Given the description of an element on the screen output the (x, y) to click on. 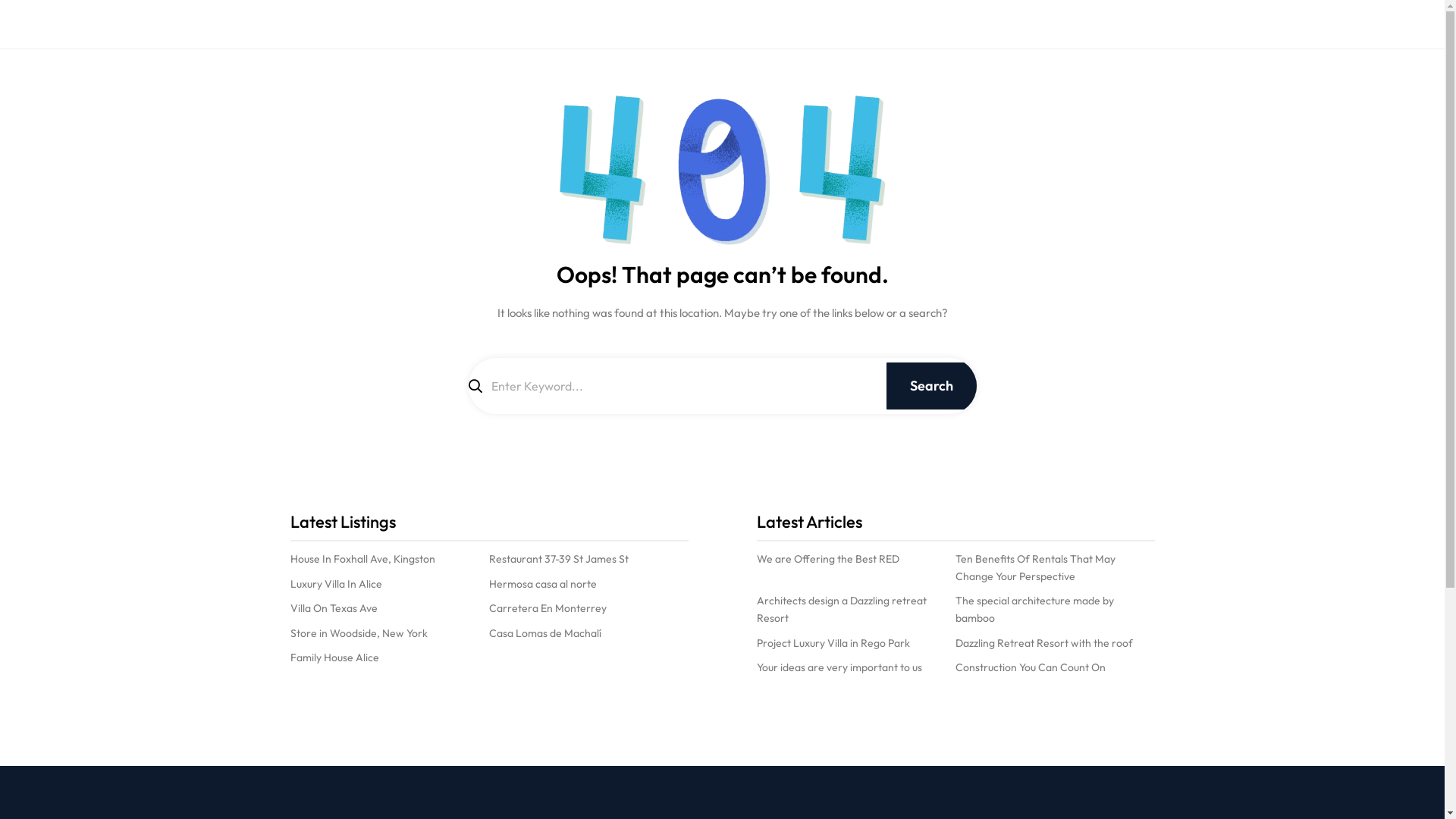
We are Offering the Best RED Element type: text (827, 558)
Your ideas are very important to us Element type: text (839, 667)
Project Luxury Villa in Rego Park Element type: text (833, 643)
Family House Alice Element type: text (333, 657)
Luxury Villa In Alice Element type: text (335, 584)
Ten Benefits Of Rentals That May Change Your Perspective Element type: text (1054, 567)
House In Foxhall Ave, Kingston Element type: text (361, 558)
Construction You Can Count On Element type: text (1030, 667)
Hermosa casa al norte Element type: text (542, 584)
Architects design a Dazzling retreat Resort Element type: text (856, 609)
Store in Woodside, New York Element type: text (357, 633)
Carretera En Monterrey Element type: text (547, 608)
Search Element type: text (930, 385)
Villa On Texas Ave Element type: text (332, 608)
Dazzling Retreat Resort with the roof Element type: text (1043, 643)
The special architecture made by bamboo Element type: text (1054, 609)
Restaurant 37-39 St James St Element type: text (558, 558)
